Given the description of an element on the screen output the (x, y) to click on. 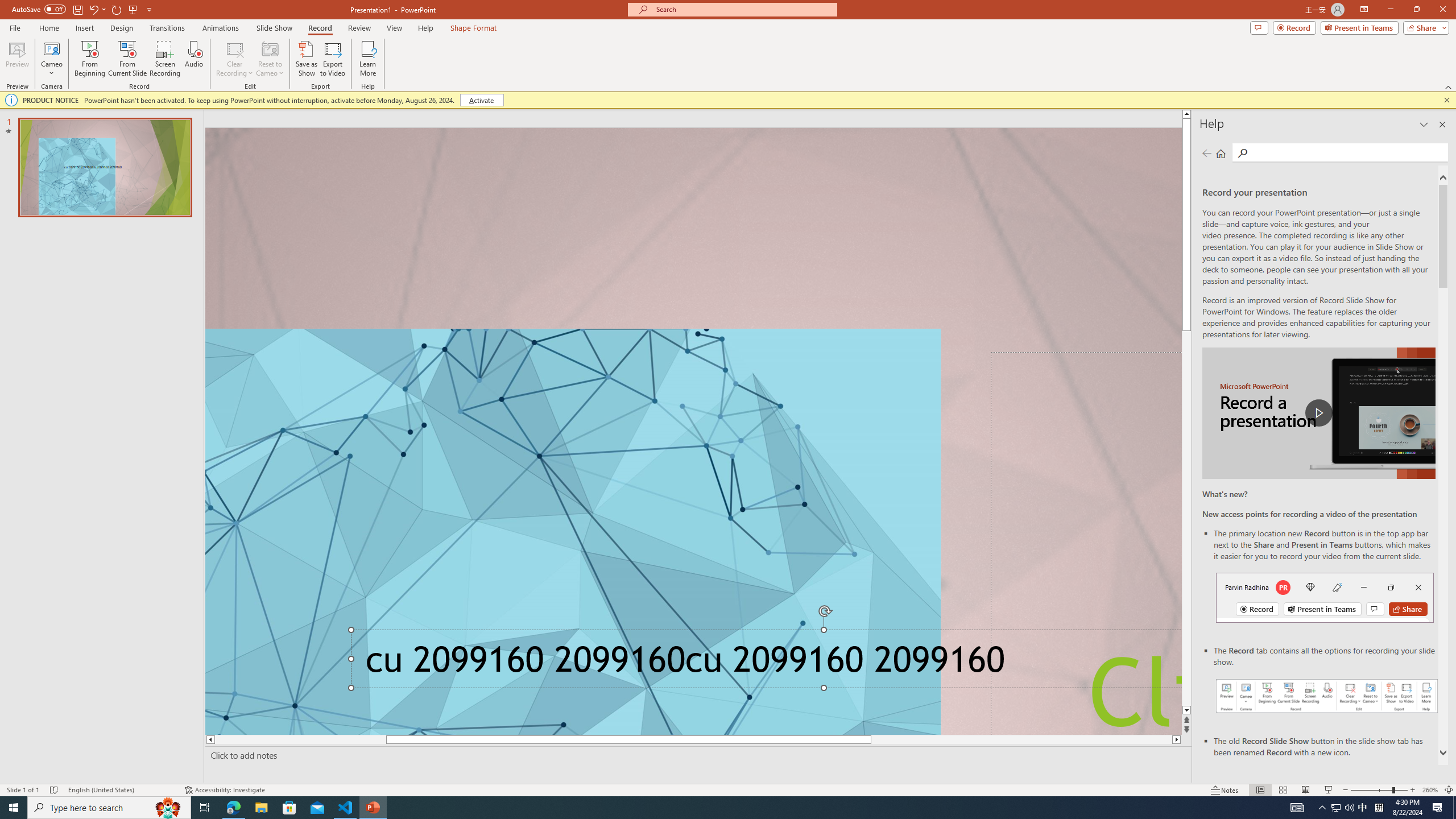
Zoom 260% (1430, 790)
